Given the description of an element on the screen output the (x, y) to click on. 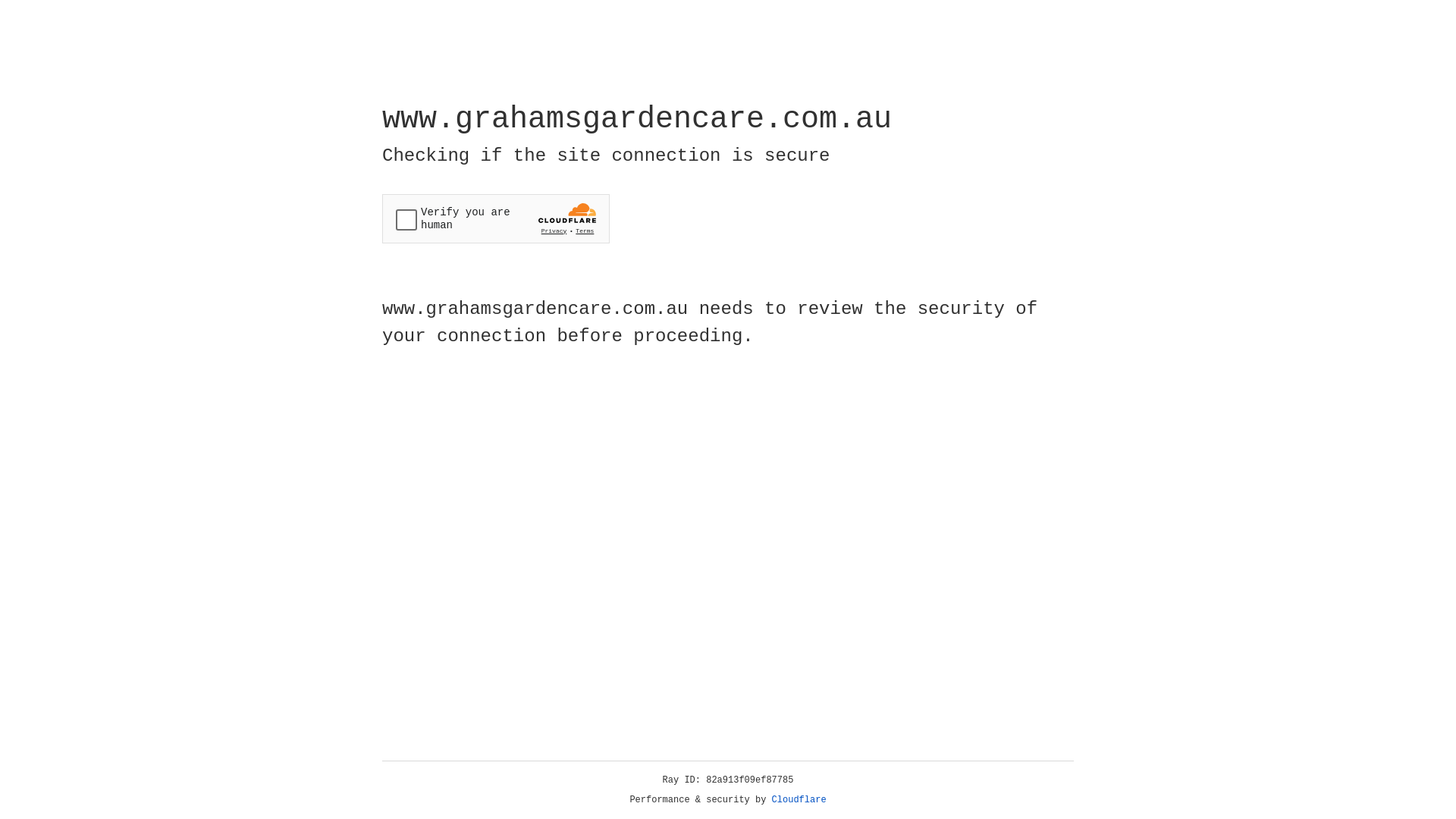
Cloudflare Element type: text (798, 799)
Widget containing a Cloudflare security challenge Element type: hover (495, 218)
